Given the description of an element on the screen output the (x, y) to click on. 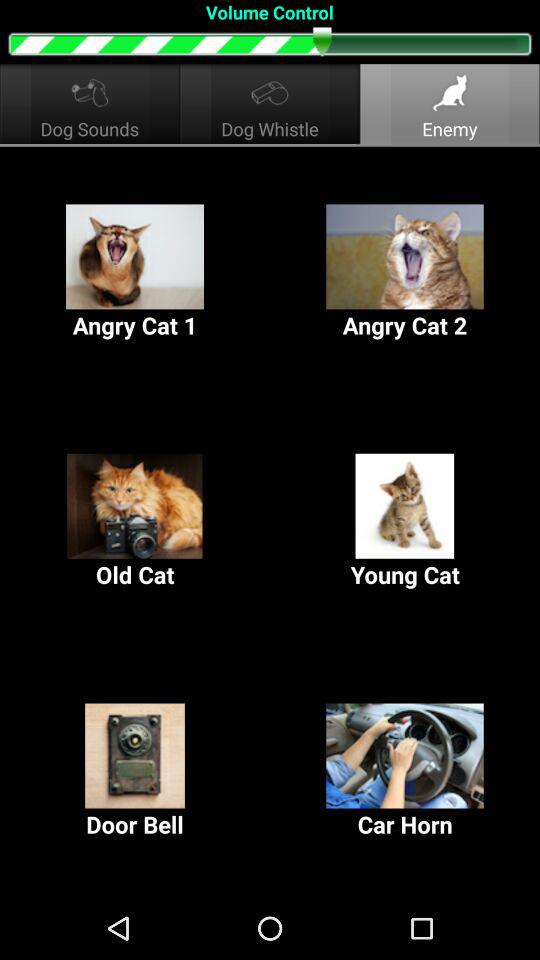
flip to young cat icon (405, 521)
